Given the description of an element on the screen output the (x, y) to click on. 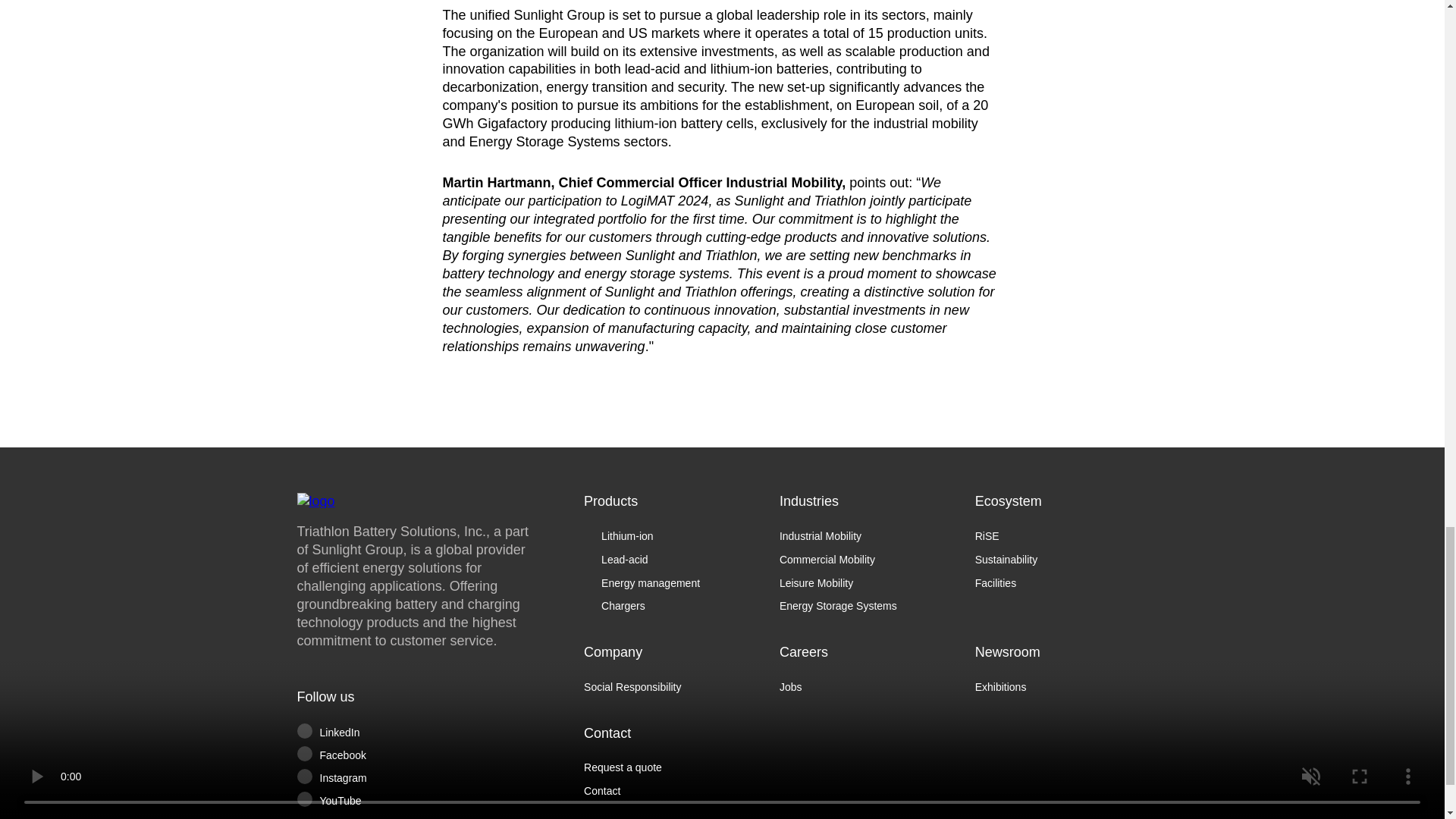
Facebook (406, 754)
Instagram (406, 777)
Commercial Mobility (865, 559)
Energy management (670, 583)
RiSE (1061, 536)
Lead-acid (670, 559)
Sustainability (1061, 559)
LinkedIn (406, 732)
Home (417, 500)
Chargers (670, 605)
YouTube (406, 800)
Lithium-ion (670, 536)
Facilities (1061, 583)
